Given the description of an element on the screen output the (x, y) to click on. 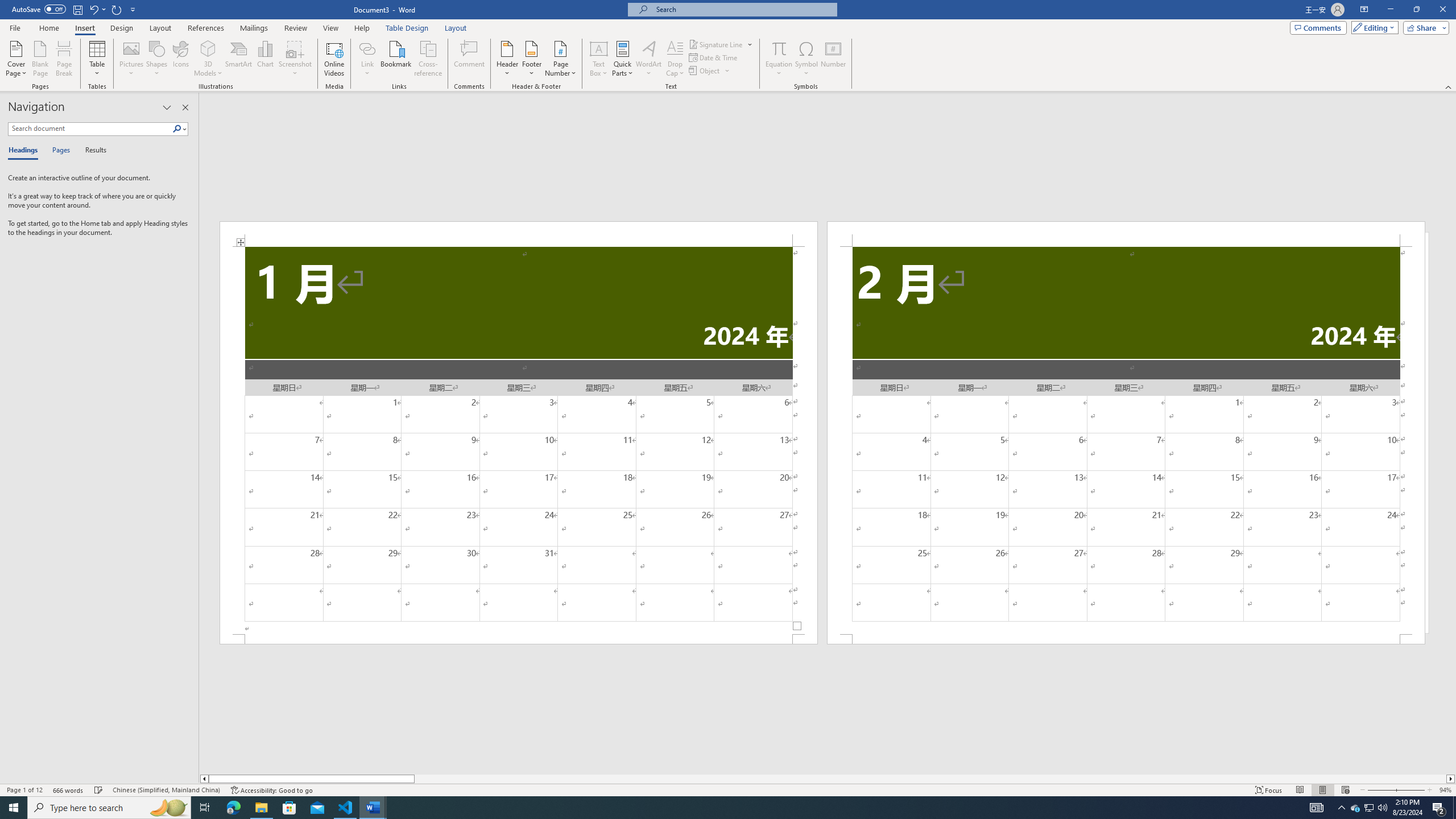
Pictures (131, 58)
Language Chinese (Simplified, Mainland China) (165, 790)
Results (91, 150)
Quick Access Toolbar (74, 9)
Bookmark... (396, 58)
Class: NetUIScrollBar (827, 778)
Home (48, 28)
Search (179, 128)
3D Models (208, 48)
SmartArt... (238, 58)
Footer (531, 58)
Pages (59, 150)
Read Mode (1299, 790)
Quick Parts (622, 58)
